Given the description of an element on the screen output the (x, y) to click on. 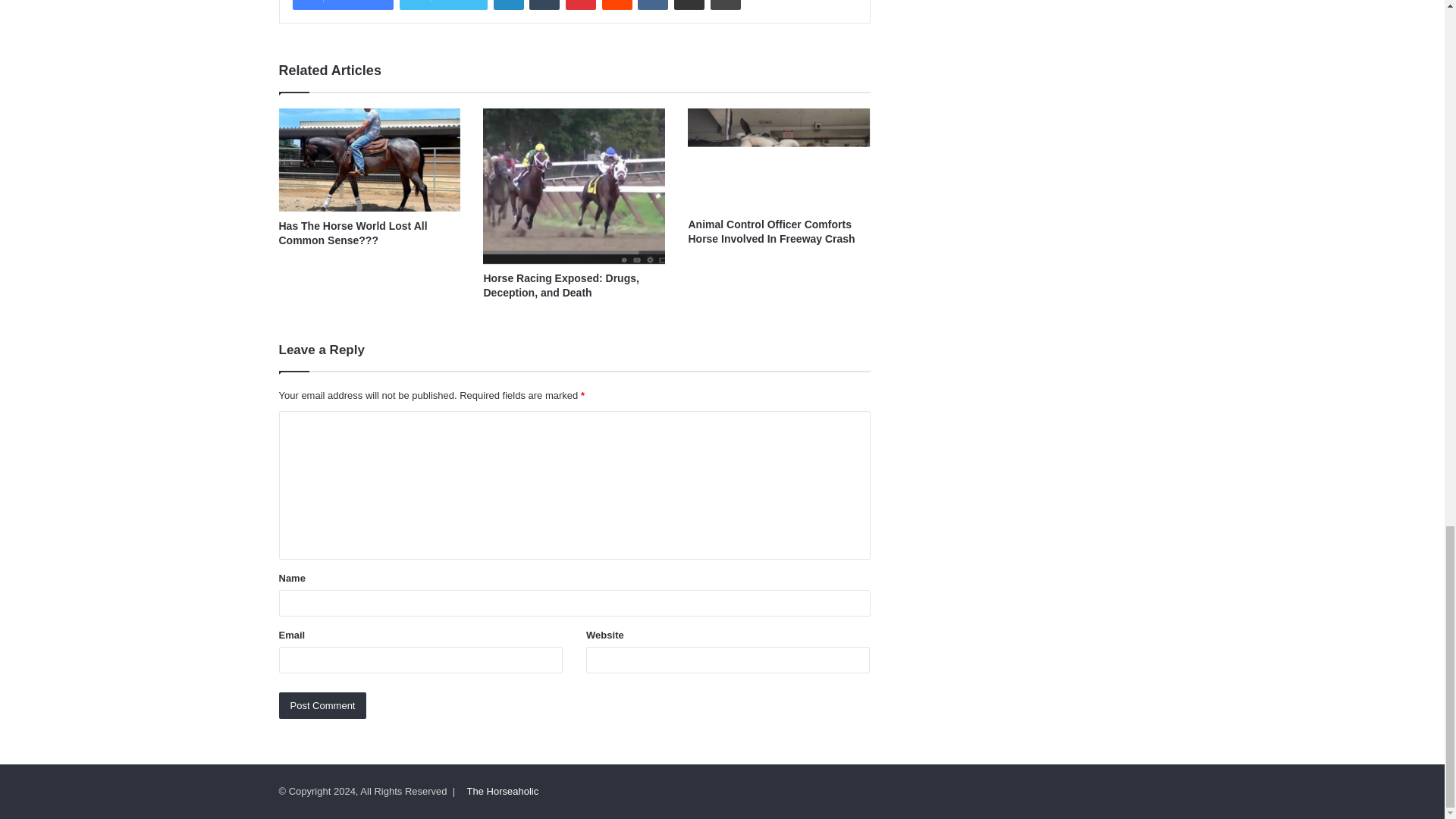
Print (725, 4)
Facebook (343, 4)
Twitter (442, 4)
Share via Email (689, 4)
LinkedIn (508, 4)
Twitter (442, 4)
LinkedIn (508, 4)
Facebook (343, 4)
Tumblr (544, 4)
Pinterest (580, 4)
